Given the description of an element on the screen output the (x, y) to click on. 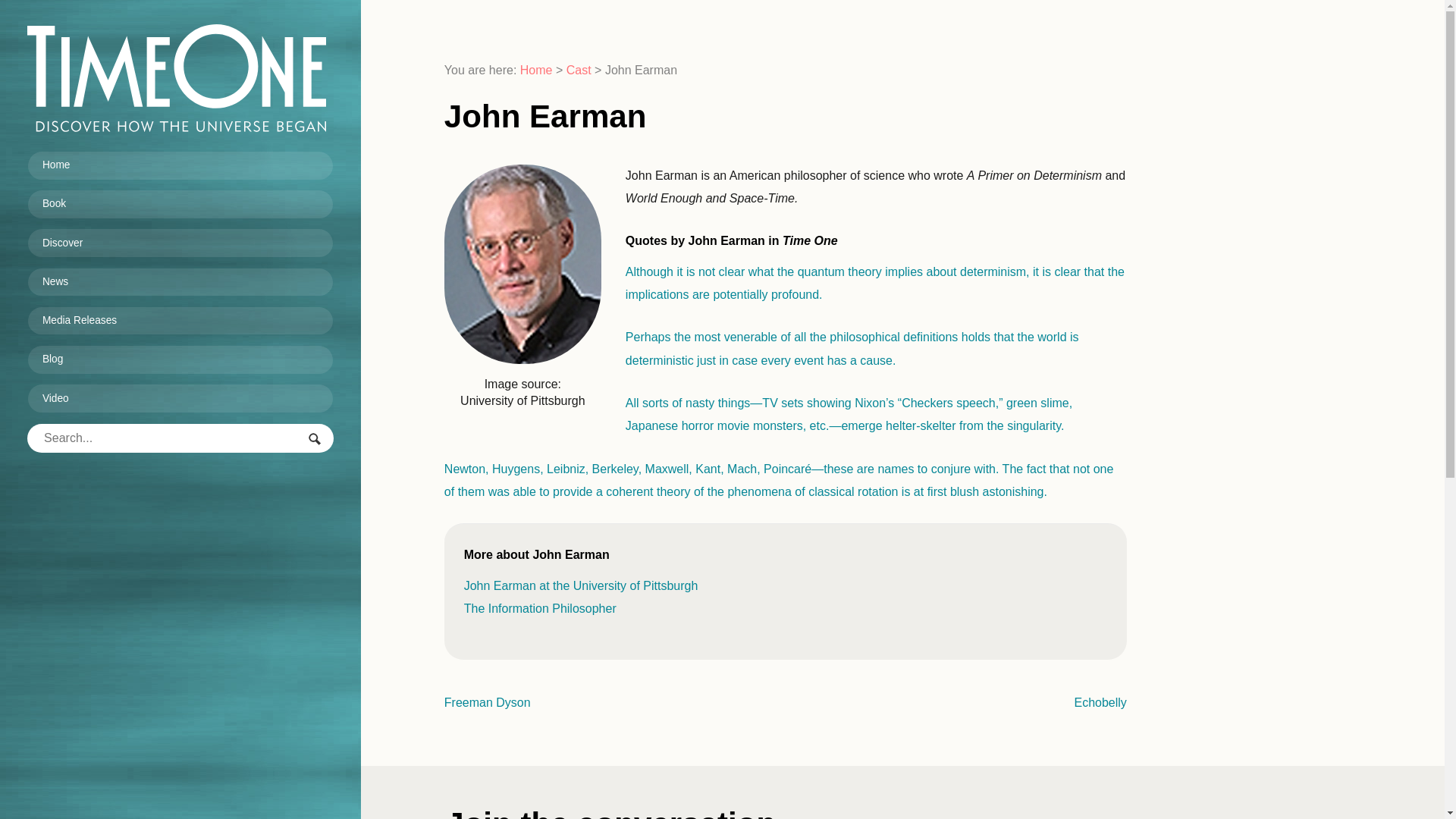
Book (180, 204)
Freeman Dyson (487, 702)
The Information Philosopher (539, 608)
Video (180, 398)
Home (180, 165)
Search (315, 440)
Echobelly (1099, 702)
Search (315, 440)
Cast (578, 69)
